Given the description of an element on the screen output the (x, y) to click on. 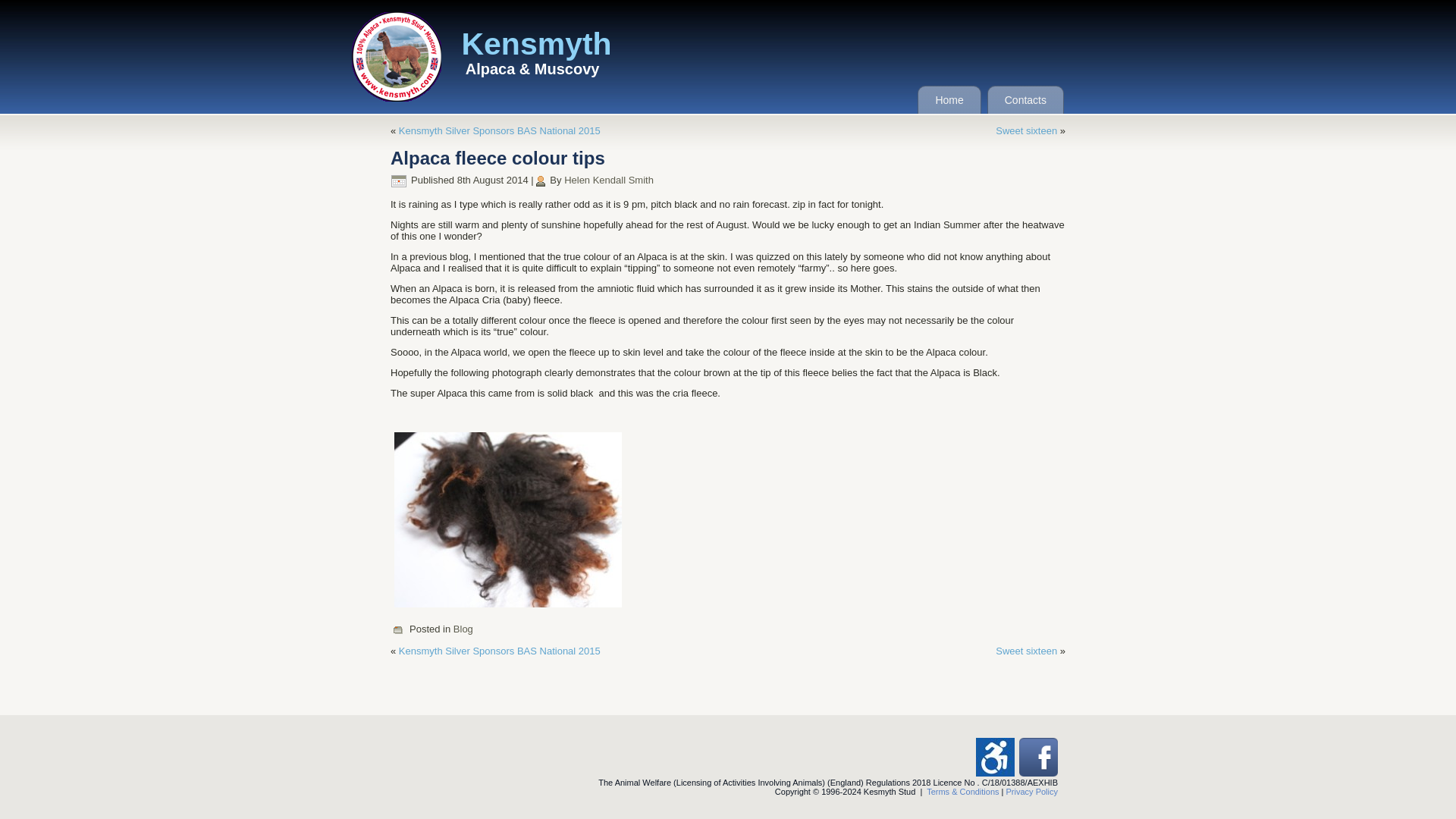
Contacts (1025, 99)
Kensmyth (536, 43)
Blog (462, 628)
Privacy Policy (1032, 791)
Kensmyth Silver Sponsors BAS National 2015 (498, 130)
Sweet sixteen (1026, 130)
Home (948, 99)
Contacts (1025, 99)
Sweet sixteen (1026, 650)
View all posts by Helen Kendall Smith (608, 179)
